Given the description of an element on the screen output the (x, y) to click on. 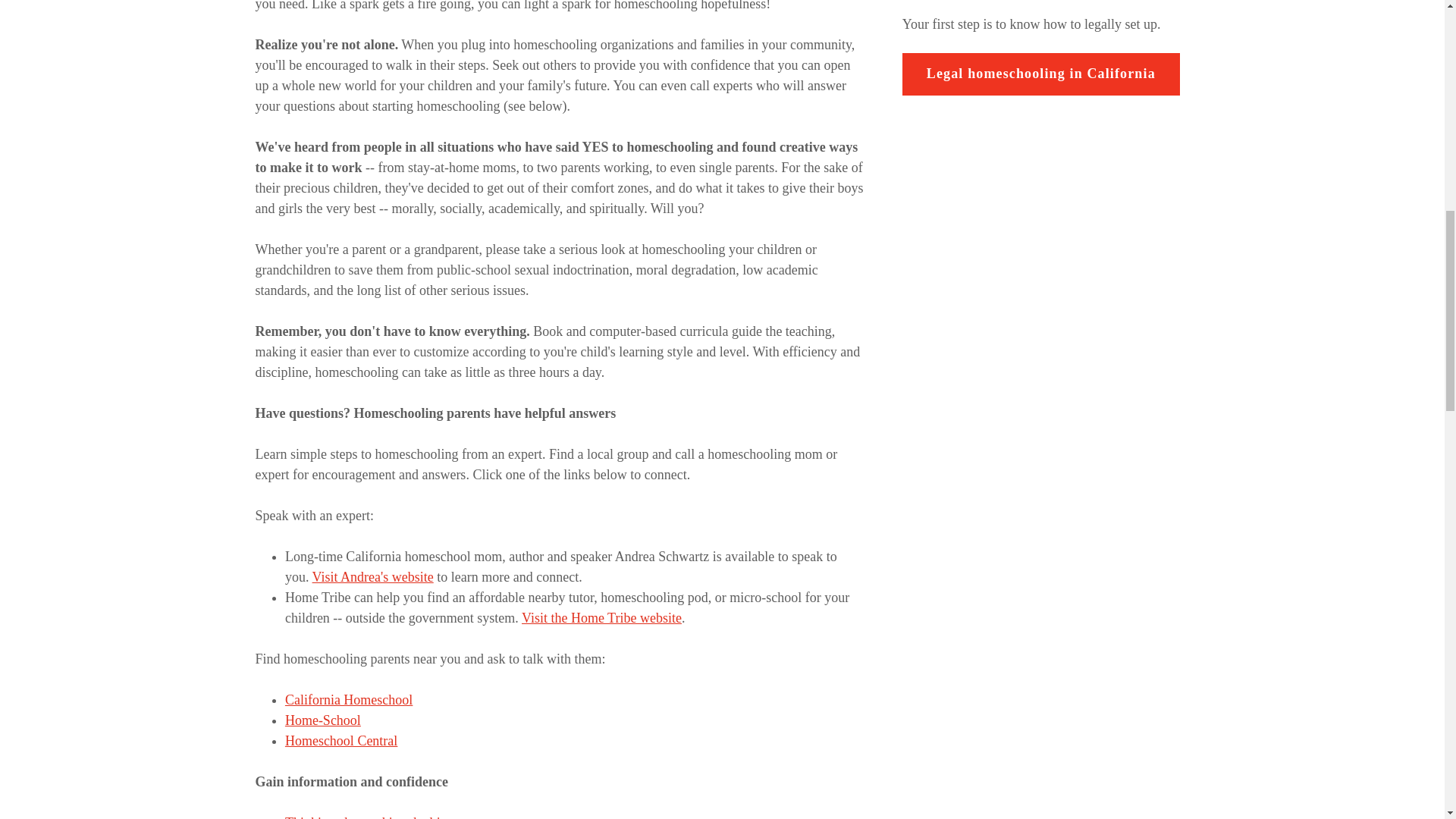
Visit the Home Tribe website (601, 617)
Visit Andrea's website (373, 576)
California Homeschool (348, 699)
